Given the description of an element on the screen output the (x, y) to click on. 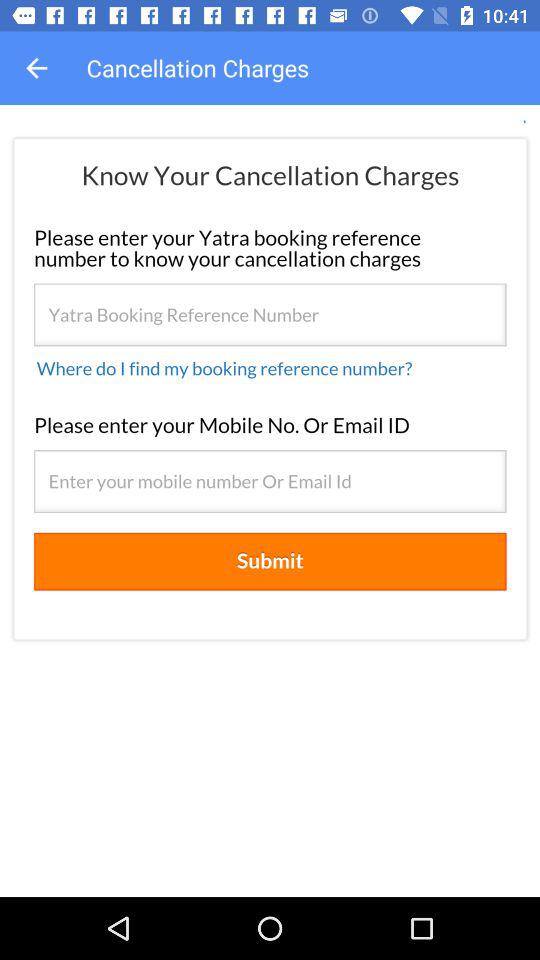
submit your information (270, 501)
